Given the description of an element on the screen output the (x, y) to click on. 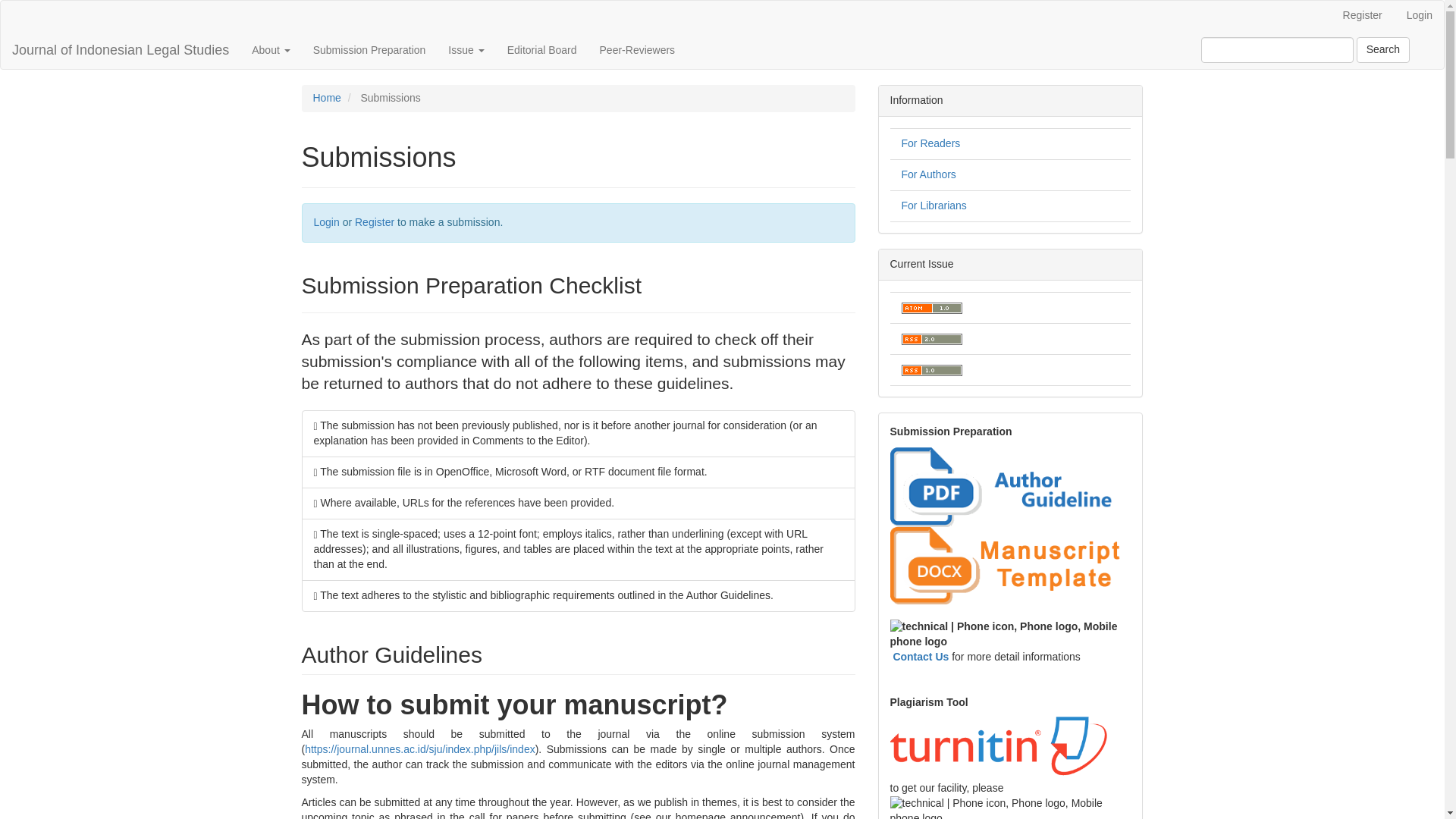
Contact Us (920, 656)
Issue (465, 49)
Search (1382, 49)
Submission Preparation (369, 49)
Peer-Reviewers (637, 49)
For Readers (930, 143)
Login (1419, 15)
Login (326, 222)
For Authors (928, 174)
Editorial Board (542, 49)
